Given the description of an element on the screen output the (x, y) to click on. 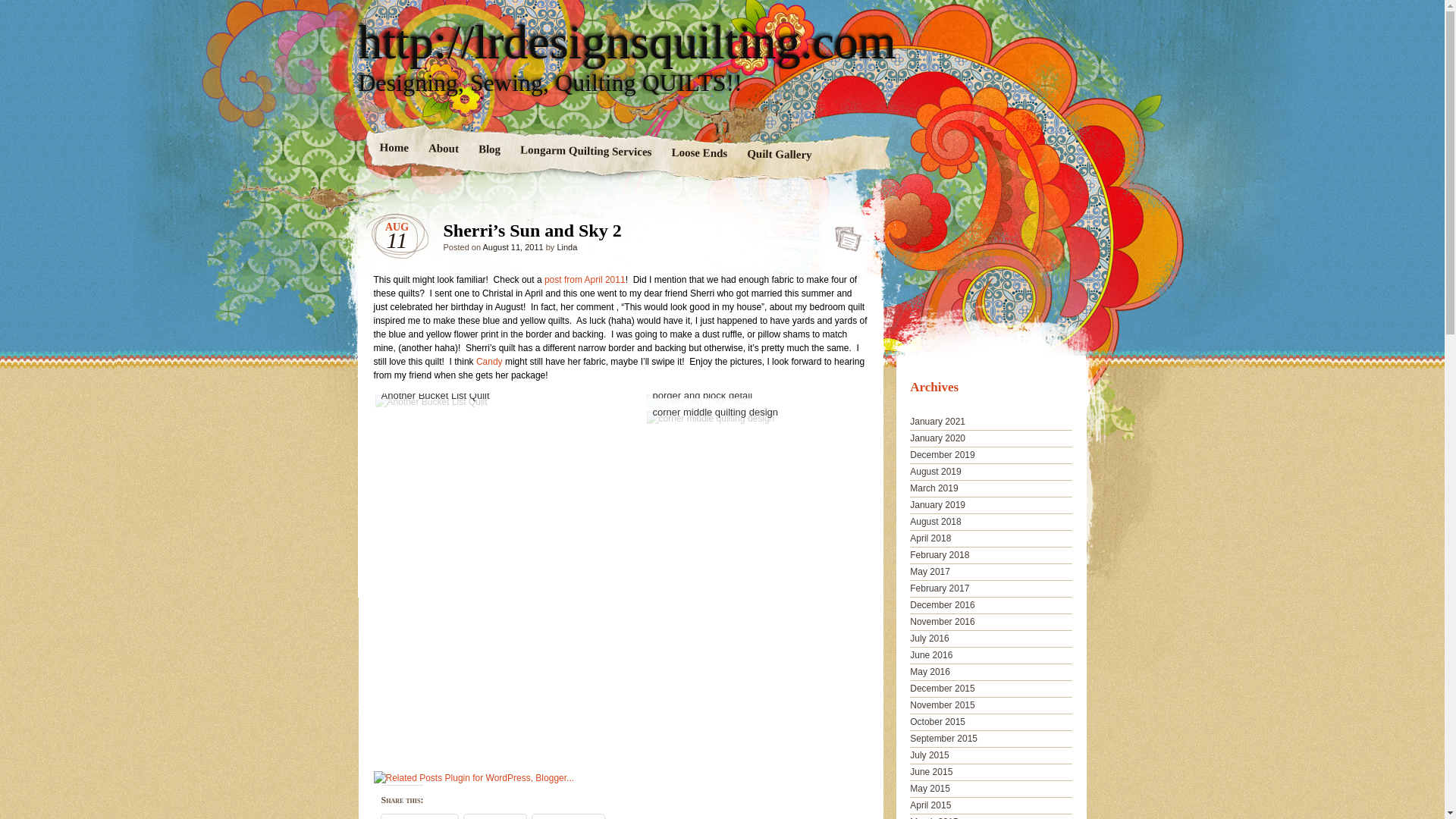
Twitter (494, 816)
View all posts by Linda (566, 246)
Quilt Gallery (778, 155)
post from April 2011 (585, 279)
January 2021 (937, 421)
Click to share on Facebook (418, 816)
2:34 am (512, 246)
Sherri's Sun and Sky 2 (430, 401)
Candy (489, 361)
Home (393, 149)
front detail (697, 401)
Loose Ends (698, 154)
About (442, 149)
Longarm Quilting Services (585, 151)
Linda (566, 246)
